Given the description of an element on the screen output the (x, y) to click on. 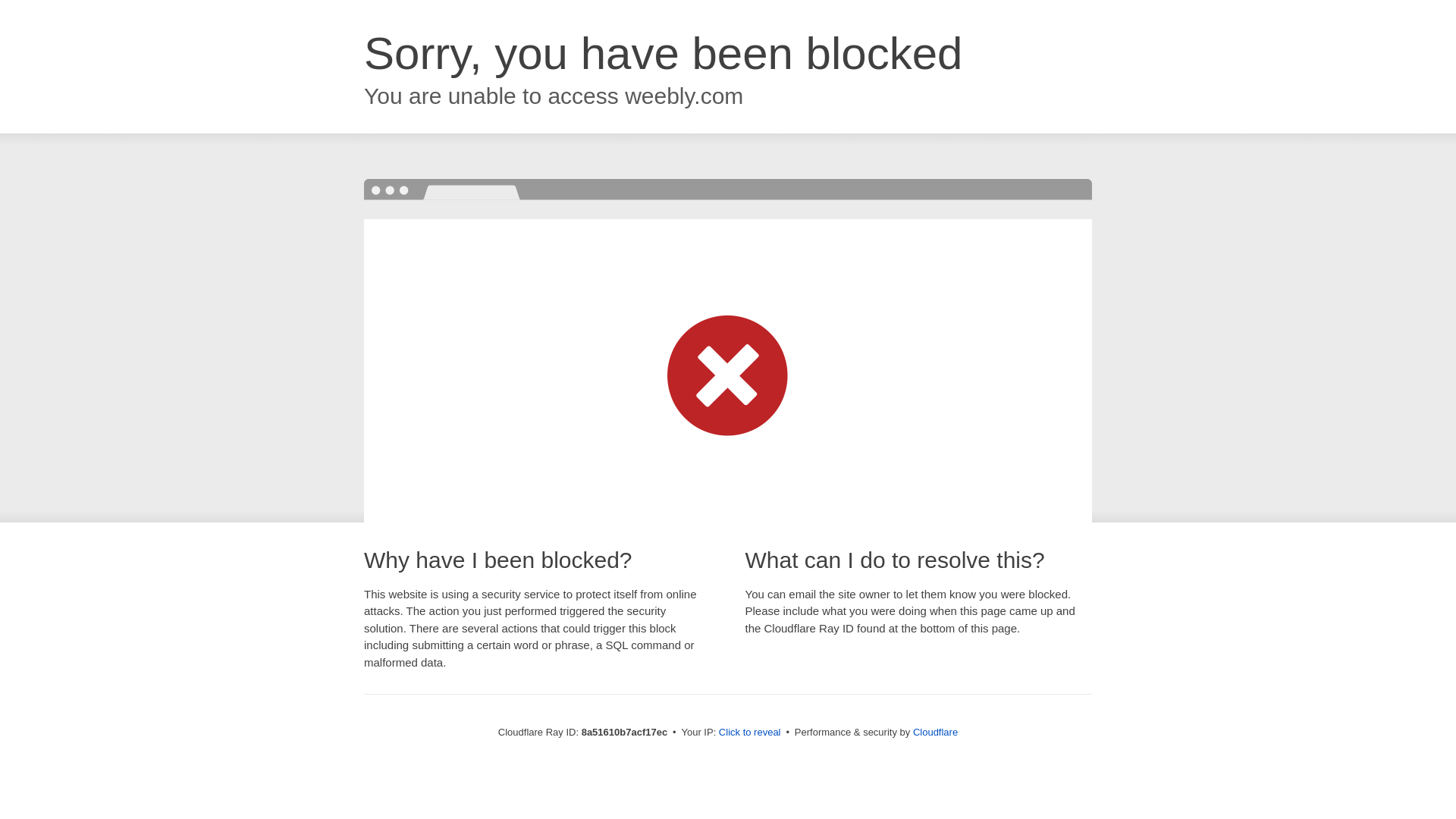
Click to reveal (749, 732)
Cloudflare (935, 731)
